Given the description of an element on the screen output the (x, y) to click on. 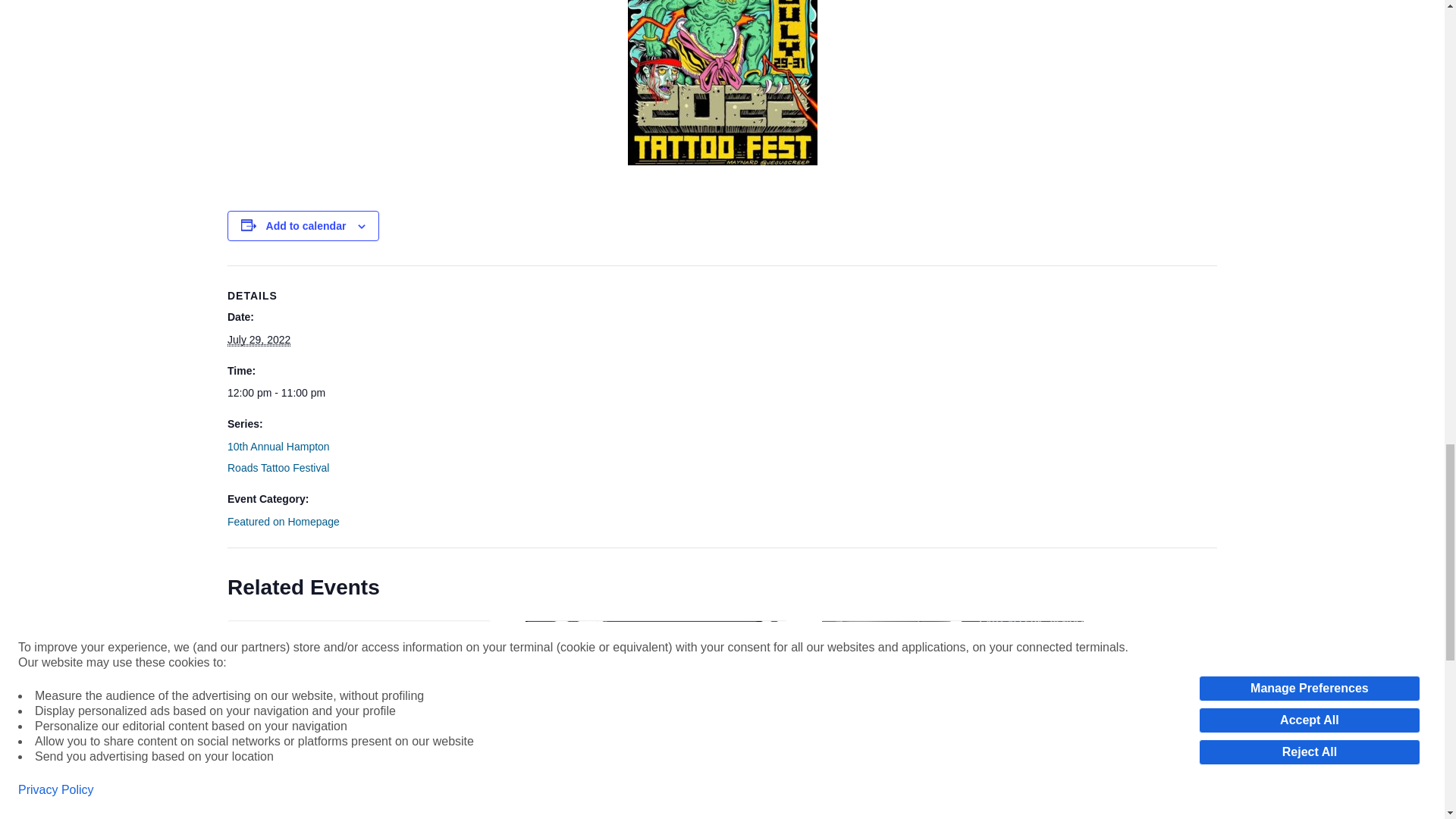
2022-07-29 (258, 339)
Add to calendar (306, 225)
10th Annual Hampton Roads Tattoo Festival (278, 457)
2022-07-29 (291, 392)
